Given the description of an element on the screen output the (x, y) to click on. 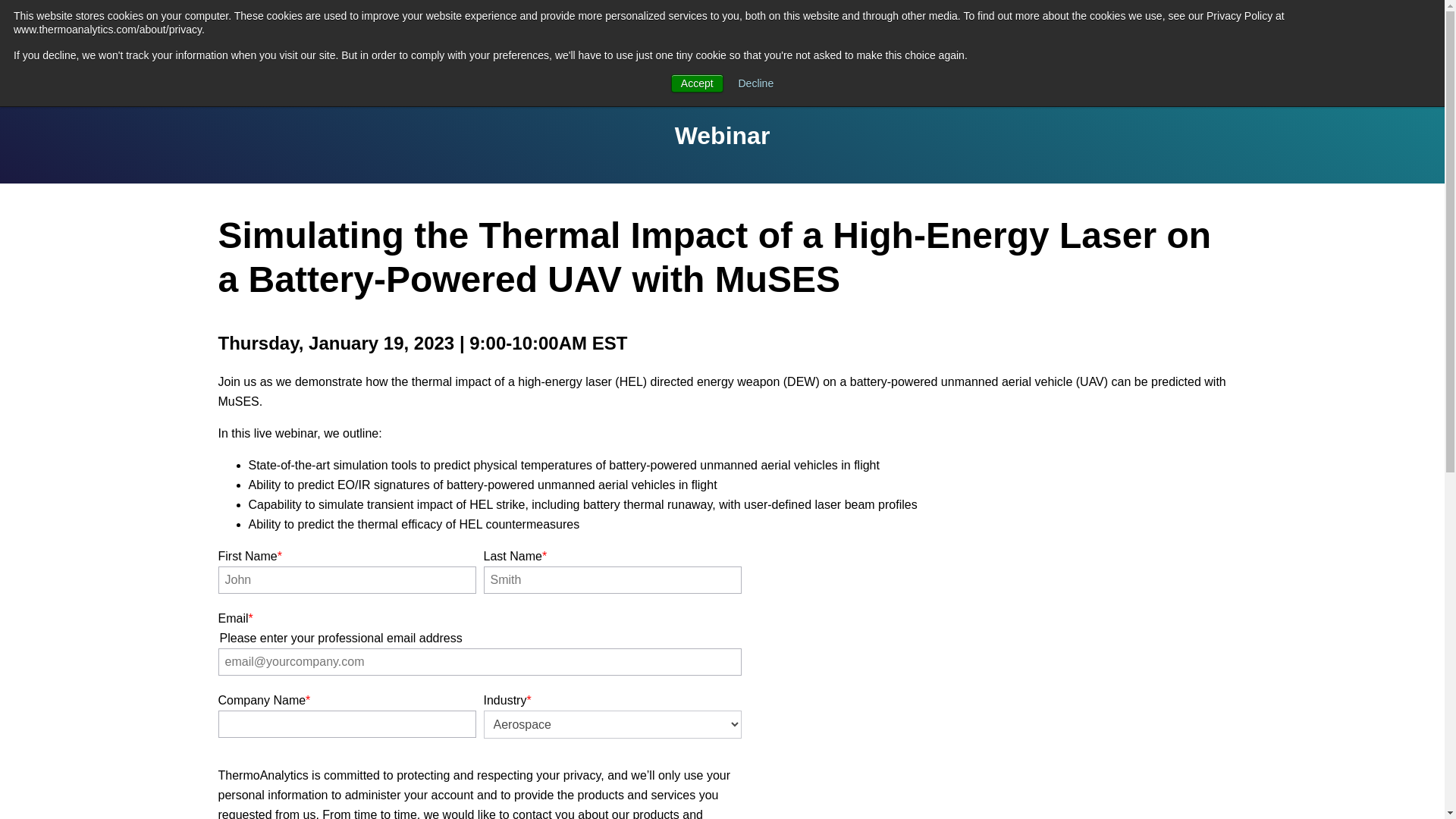
Home (106, 47)
Decline (756, 82)
Accept (697, 83)
